Given the description of an element on the screen output the (x, y) to click on. 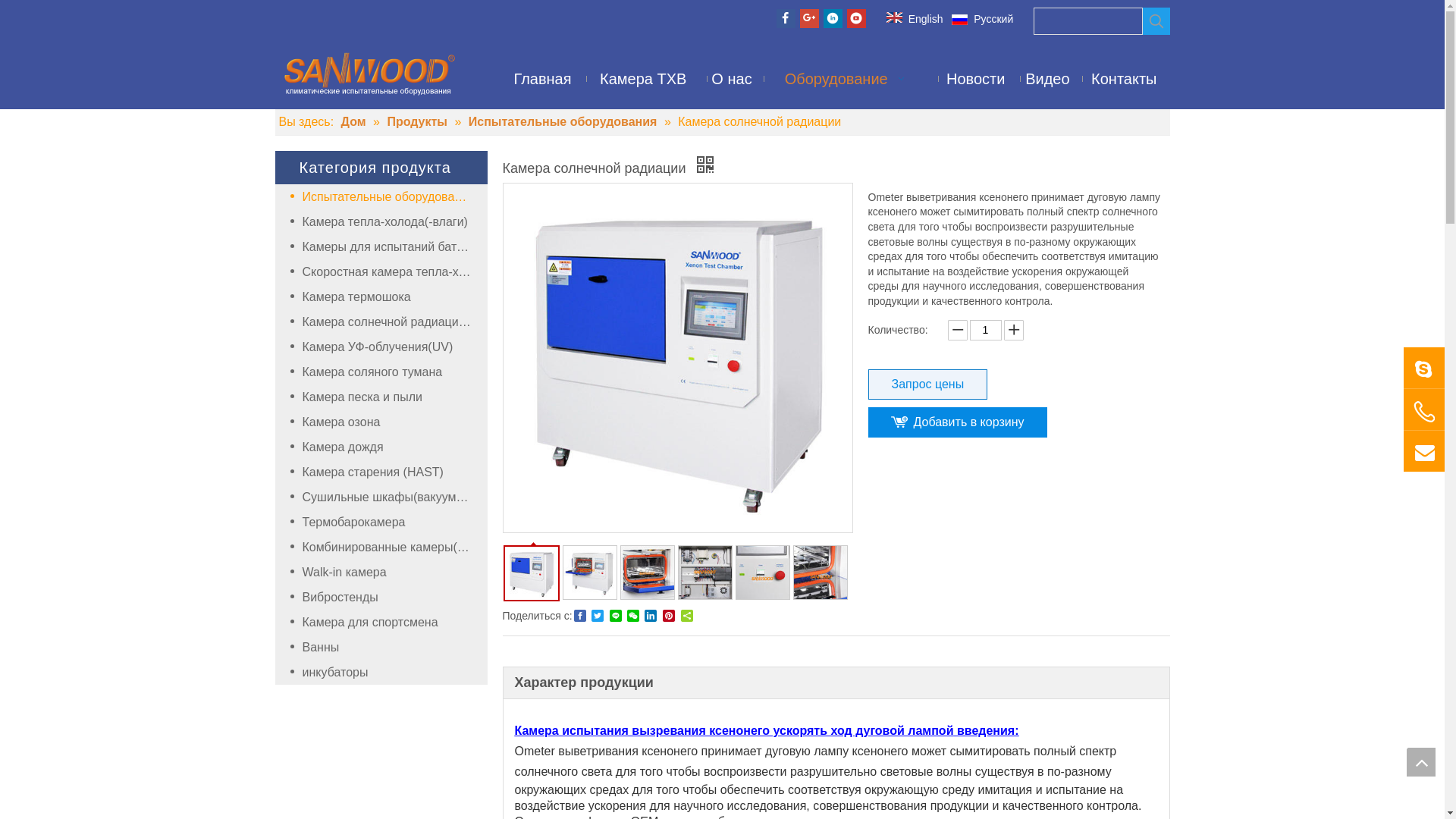
Facebook Element type: hover (785, 18)
Google+ Element type: hover (809, 18)
English Element type: text (914, 18)
Linkedin Element type: hover (832, 18)
Youtube Element type: hover (855, 18)
top Element type: text (1420, 761)
